Given the description of an element on the screen output the (x, y) to click on. 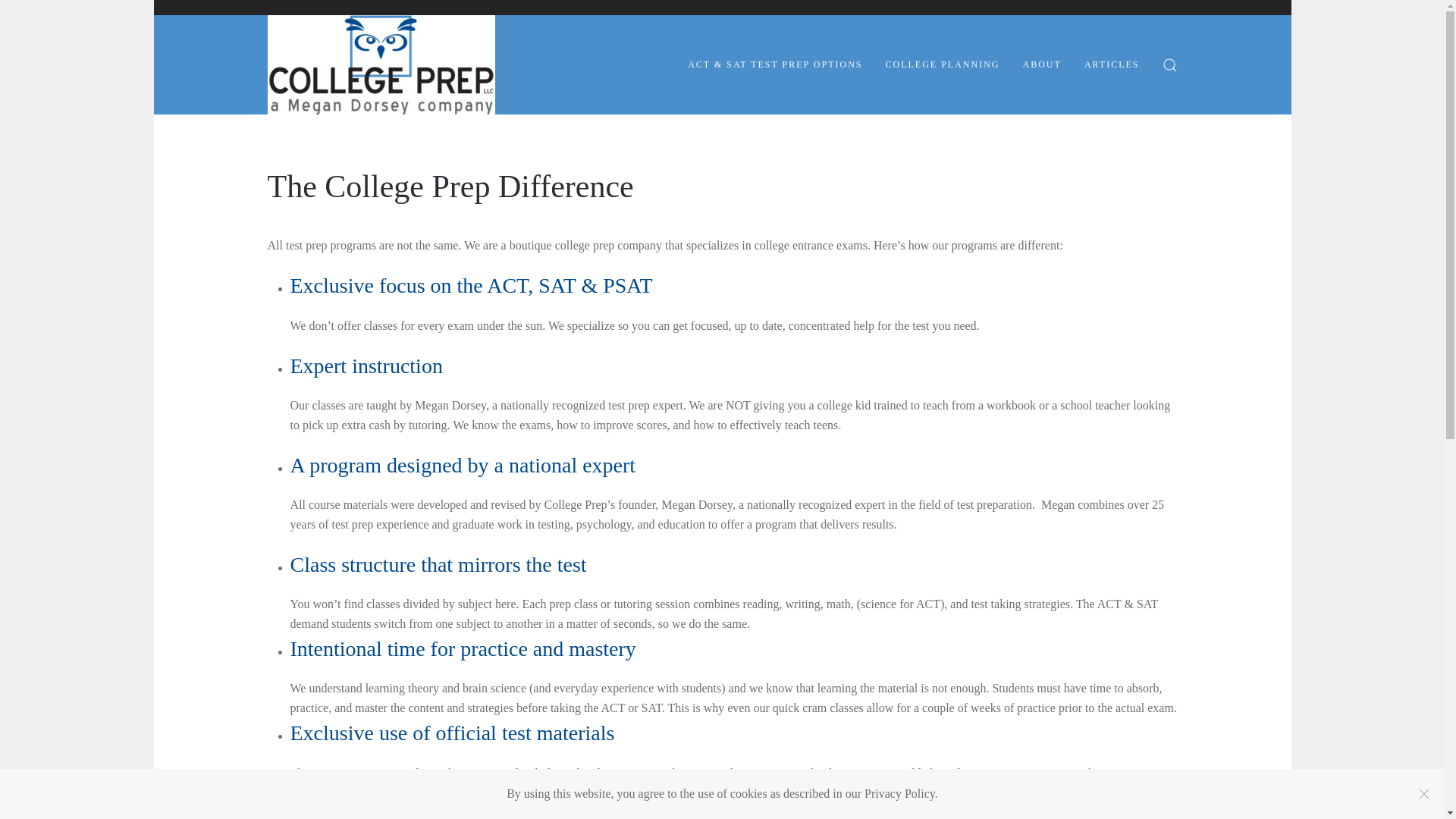
ABOUT (1042, 65)
COLLEGE PLANNING (943, 65)
ARTICLES (1112, 65)
